Given the description of an element on the screen output the (x, y) to click on. 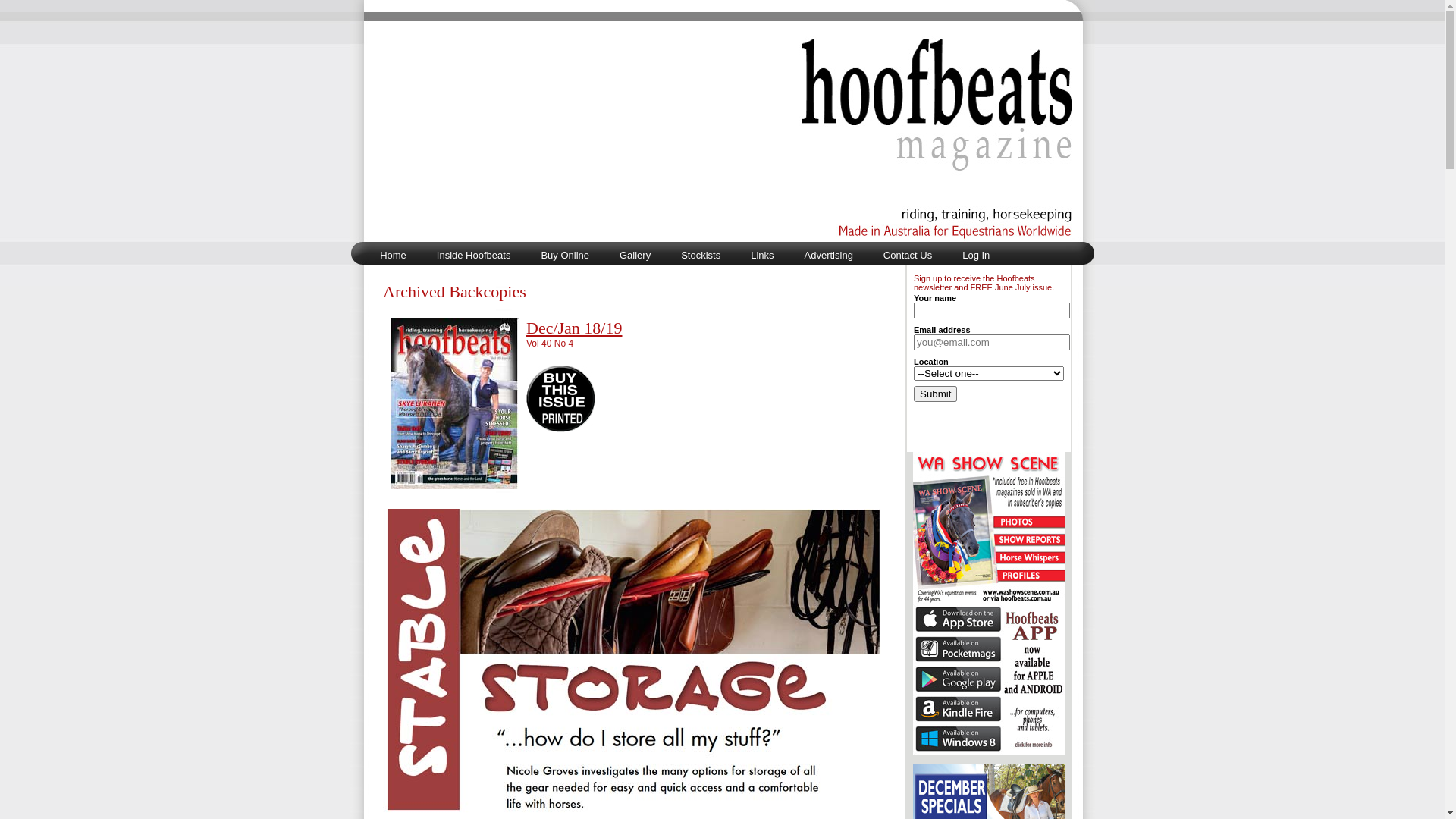
Log In Element type: text (975, 254)
Links Element type: text (761, 254)
Stockists Element type: text (700, 254)
Home Element type: text (392, 254)
Dec/Jan 18/19 Element type: text (573, 327)
Contact Us Element type: text (907, 254)
Inside Hoofbeats Element type: text (473, 254)
Buy Online Element type: text (564, 254)
Gallery Element type: text (634, 254)
Submit Element type: text (935, 393)
Advertising Element type: text (828, 254)
